Given the description of an element on the screen output the (x, y) to click on. 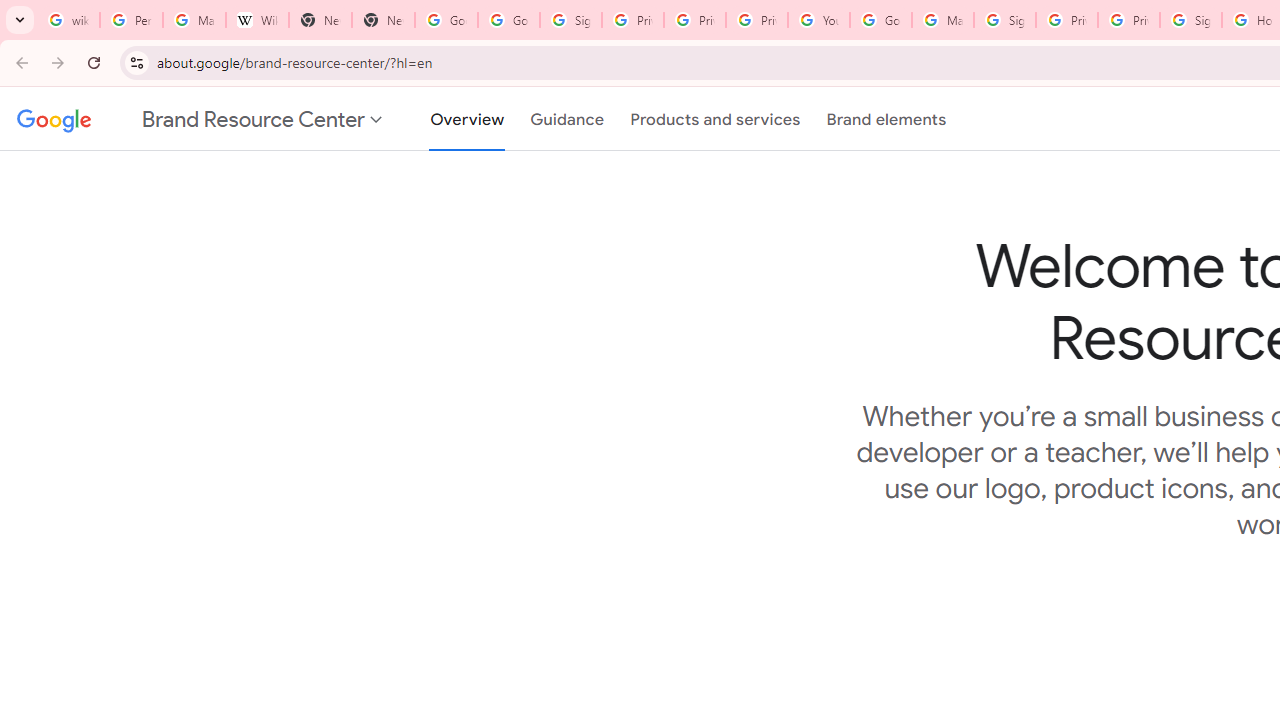
Personalization & Google Search results - Google Search Help (130, 20)
Back (19, 62)
Brand elements (886, 119)
YouTube (818, 20)
Google Account Help (880, 20)
Overview (467, 119)
New Tab (383, 20)
Wikipedia:Edit requests - Wikipedia (257, 20)
